Given the description of an element on the screen output the (x, y) to click on. 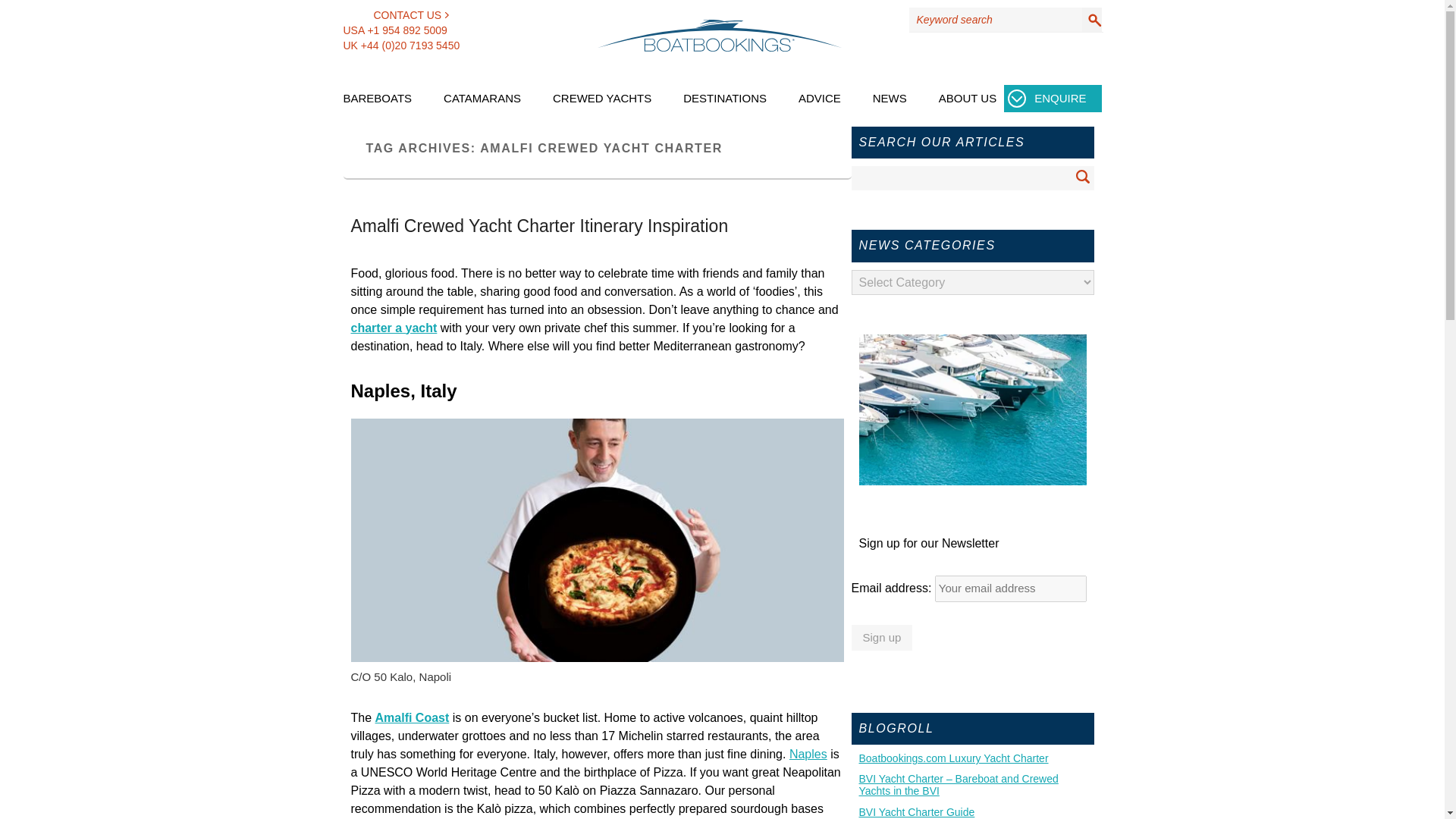
CONTACT US (395, 14)
DESTINATIONS (724, 105)
Boatbookings.com Luxury Yacht Charter (972, 758)
Sign up (881, 637)
Amalfi Coast (412, 717)
Search (1082, 177)
BAREBOATS (377, 105)
ADVICE (819, 105)
BVI Yacht Charter Guide (972, 811)
charter a yacht (393, 327)
